Given the description of an element on the screen output the (x, y) to click on. 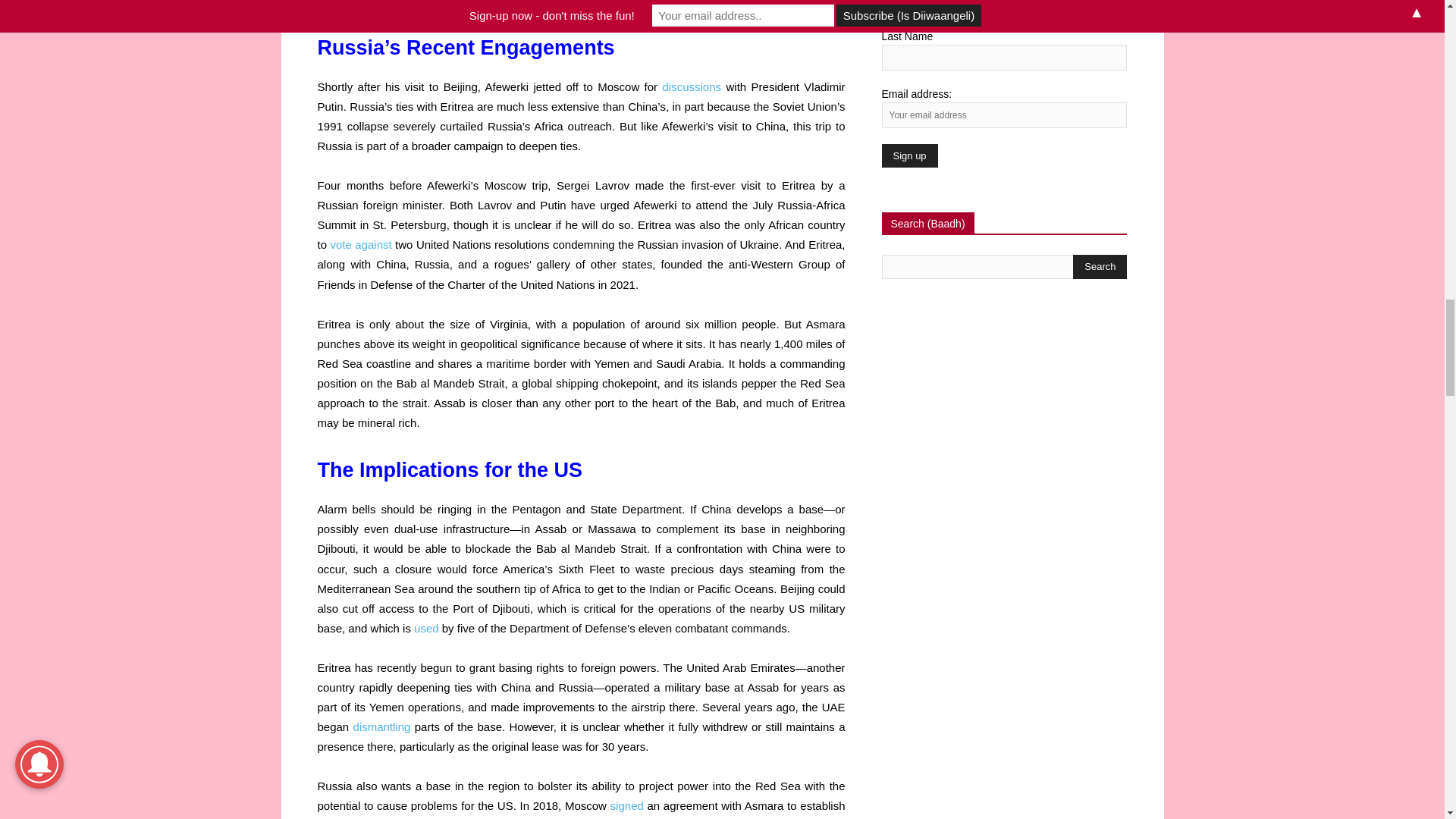
Sign up (908, 155)
Search (1099, 266)
